Given the description of an element on the screen output the (x, y) to click on. 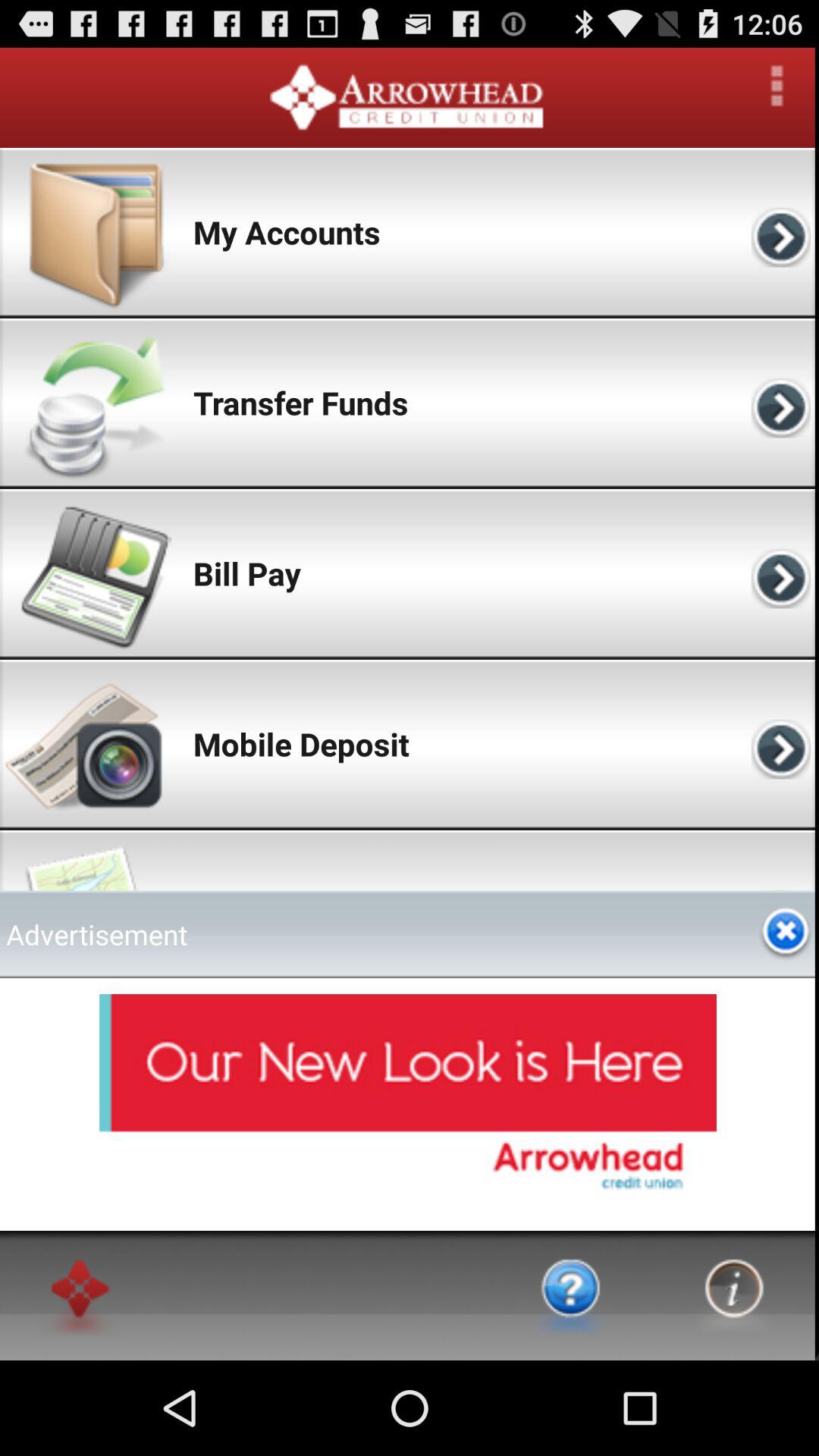
help option (571, 1295)
